Given the description of an element on the screen output the (x, y) to click on. 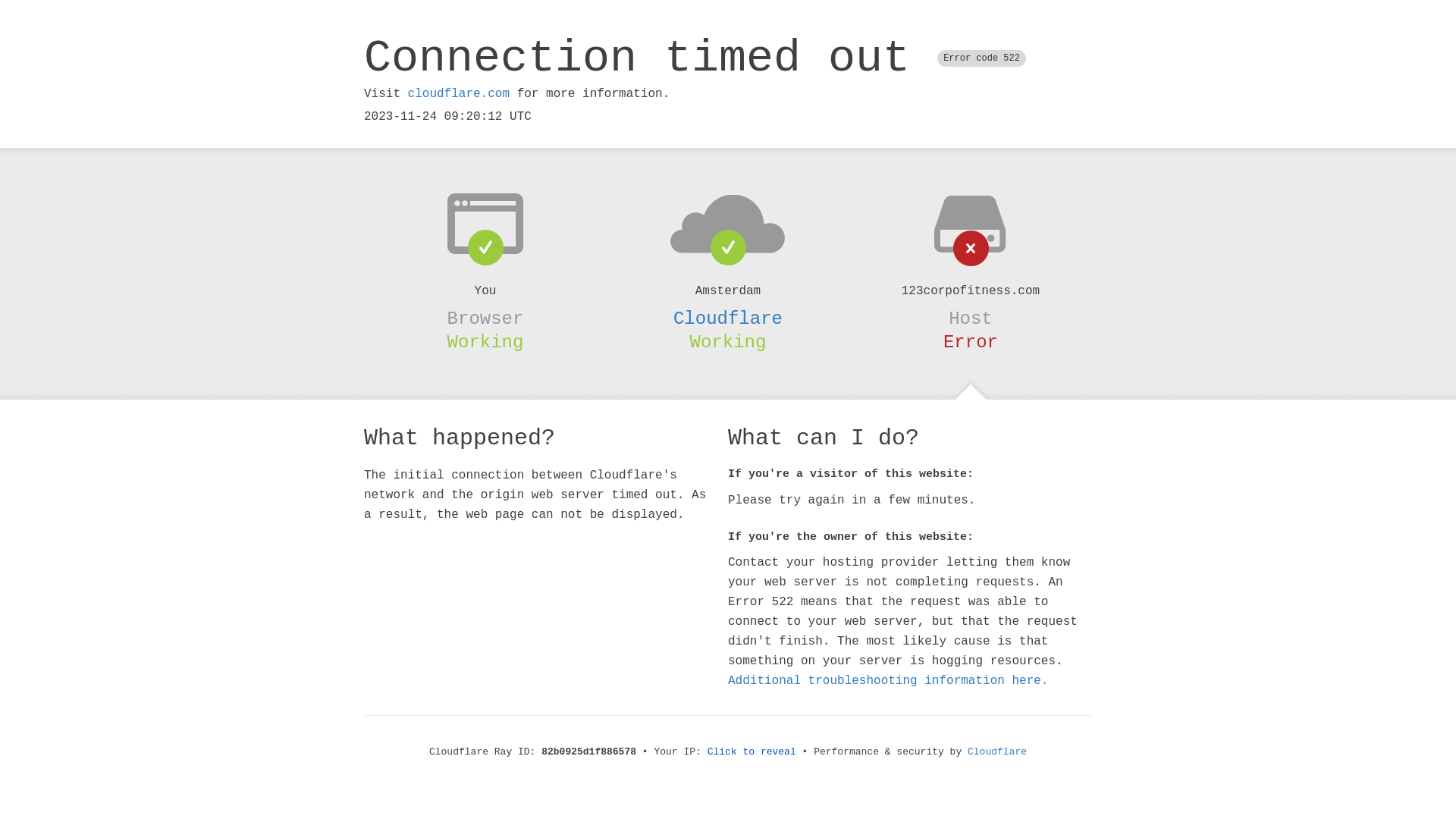
Click to reveal Element type: text (751, 751)
Cloudflare Element type: text (727, 318)
cloudflare.com Element type: text (458, 93)
Cloudflare Element type: text (996, 751)
Additional troubleshooting information here. Element type: text (888, 680)
